Given the description of an element on the screen output the (x, y) to click on. 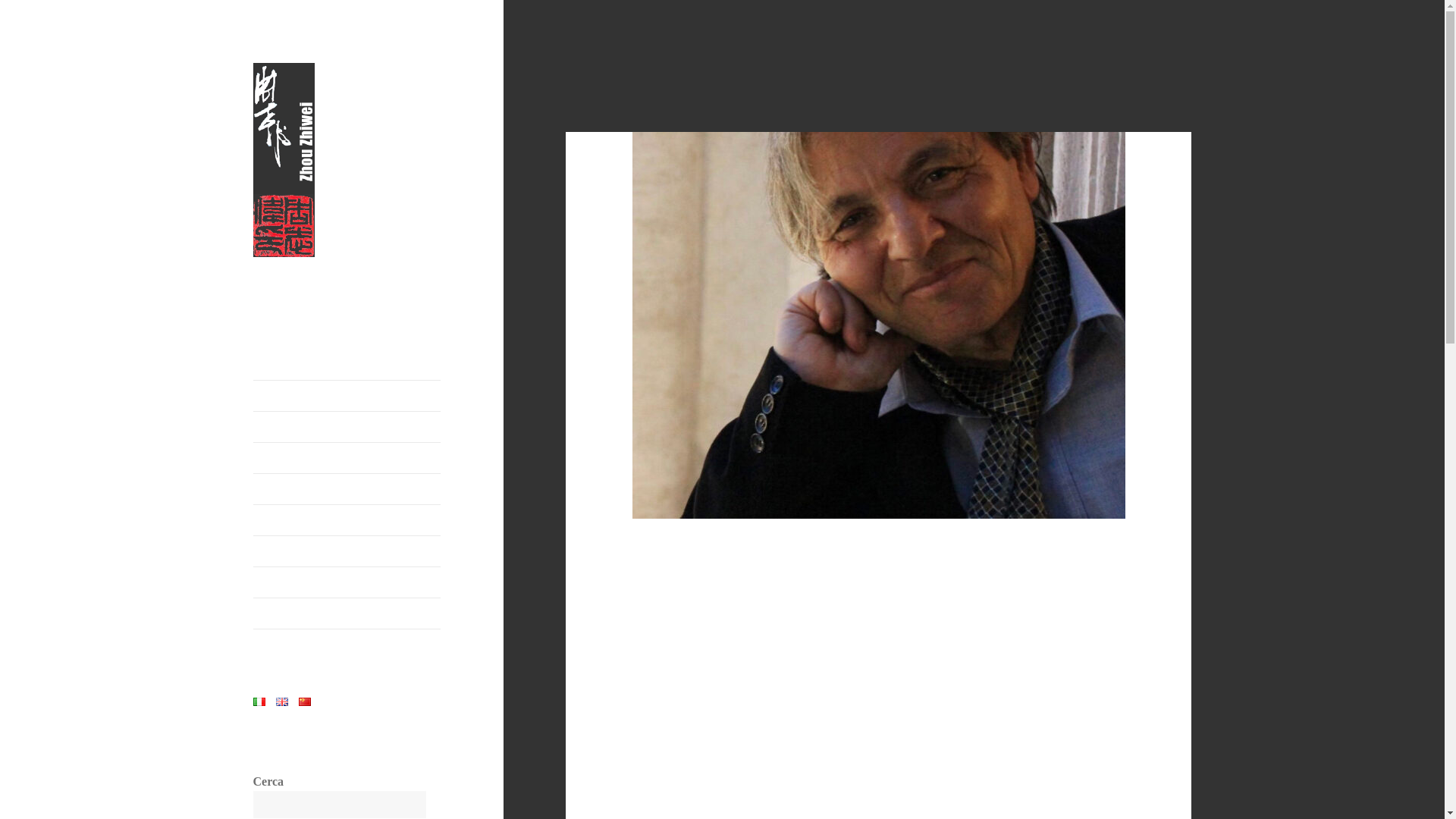
Events (347, 582)
Portraits (347, 489)
Biography (347, 395)
Art Critics (347, 426)
Drawings (347, 551)
Landscapes (347, 520)
Large Works (347, 458)
Zhou Zhiwei (312, 281)
Contact (347, 613)
